Given the description of an element on the screen output the (x, y) to click on. 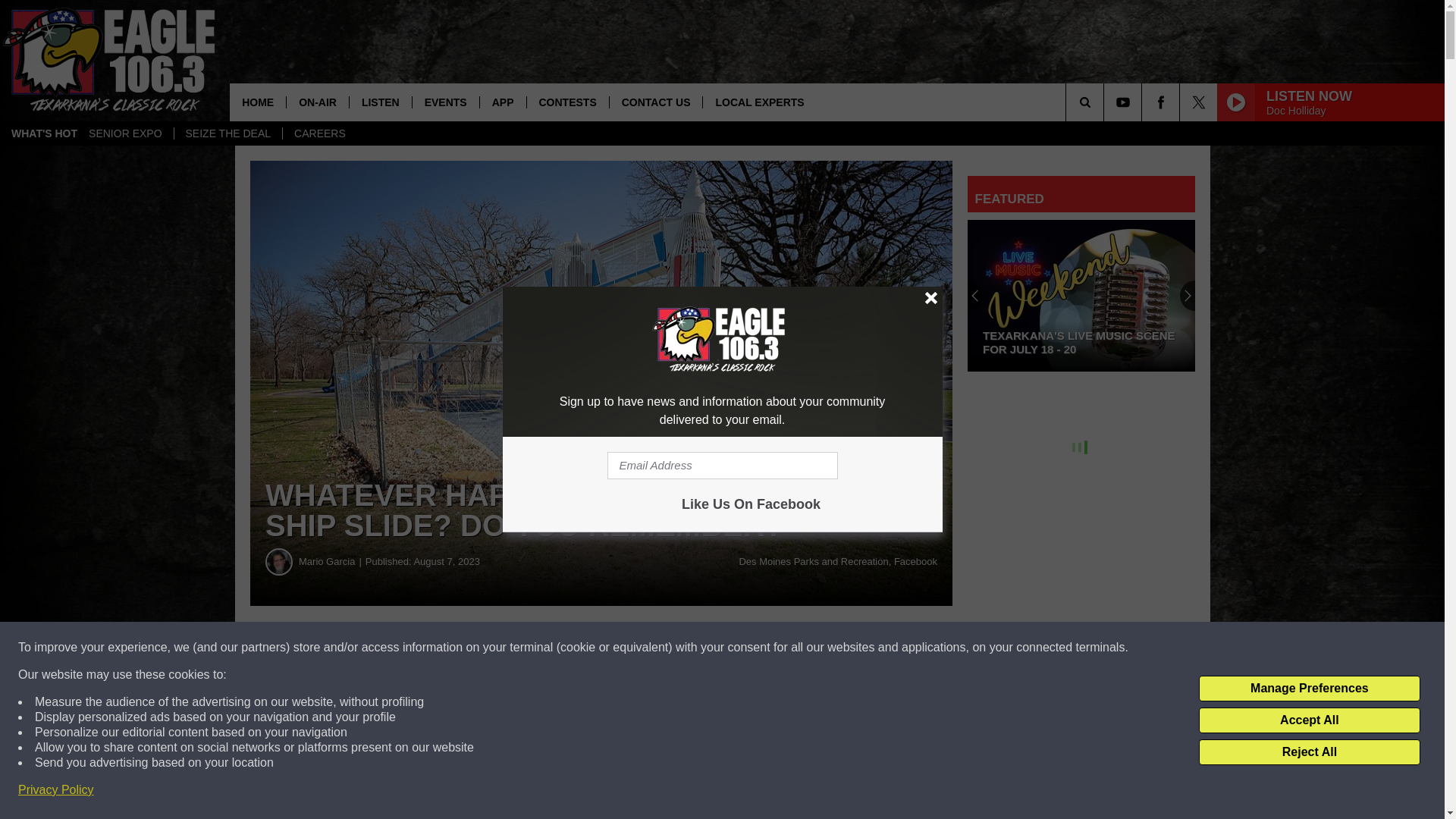
Manage Preferences (1309, 688)
Reject All (1309, 751)
SEARCH (1106, 102)
LOCAL EXPERTS (758, 102)
Share on Facebook (460, 647)
Privacy Policy (55, 789)
SENIOR EXPO (125, 133)
CONTESTS (566, 102)
ON-AIR (317, 102)
CAREERS (319, 133)
CONTACT US (655, 102)
Share on Twitter (741, 647)
Accept All (1309, 720)
Email Address (722, 465)
SEIZE THE DEAL (227, 133)
